Given the description of an element on the screen output the (x, y) to click on. 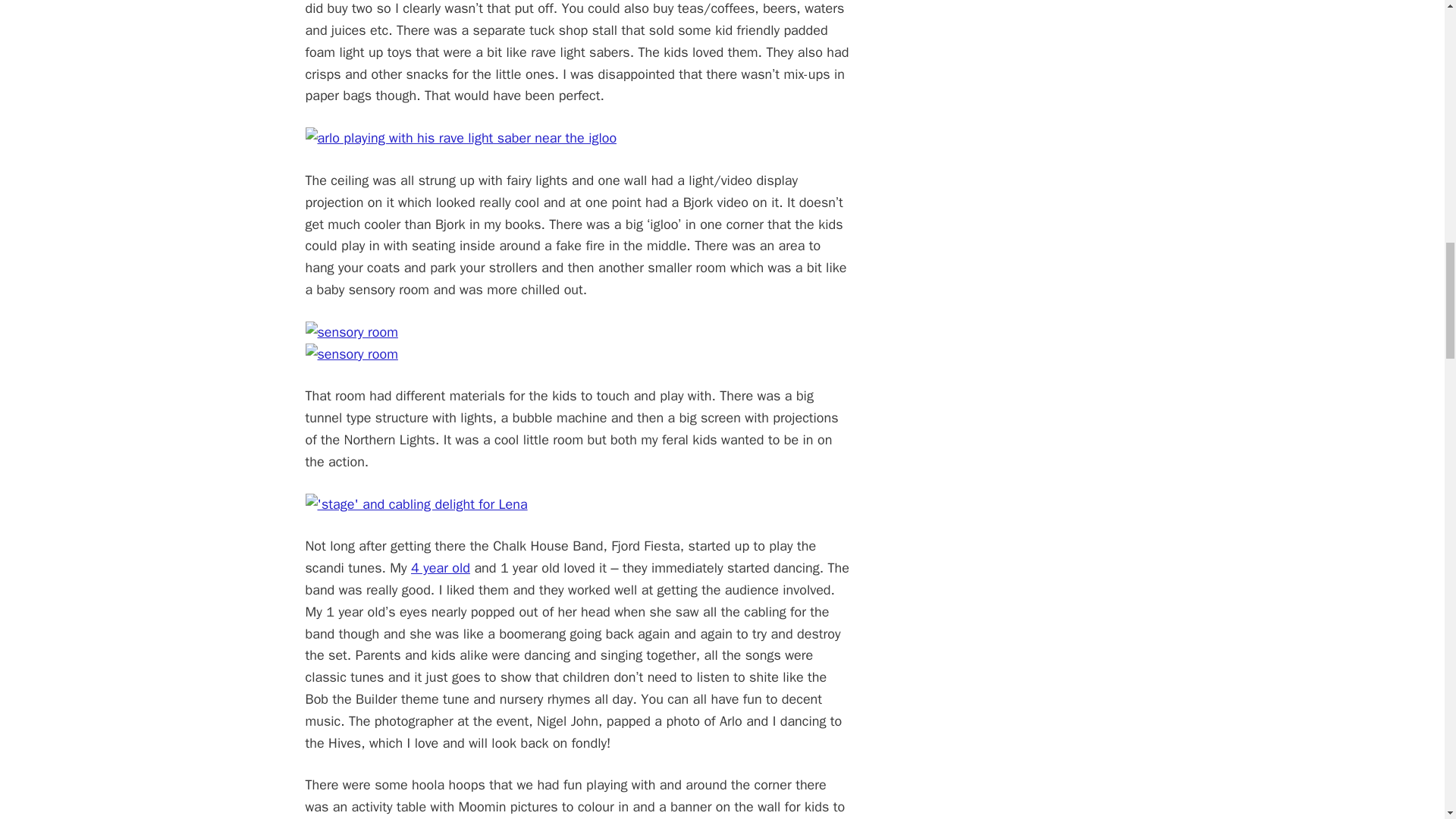
4 year old (440, 567)
